Given the description of an element on the screen output the (x, y) to click on. 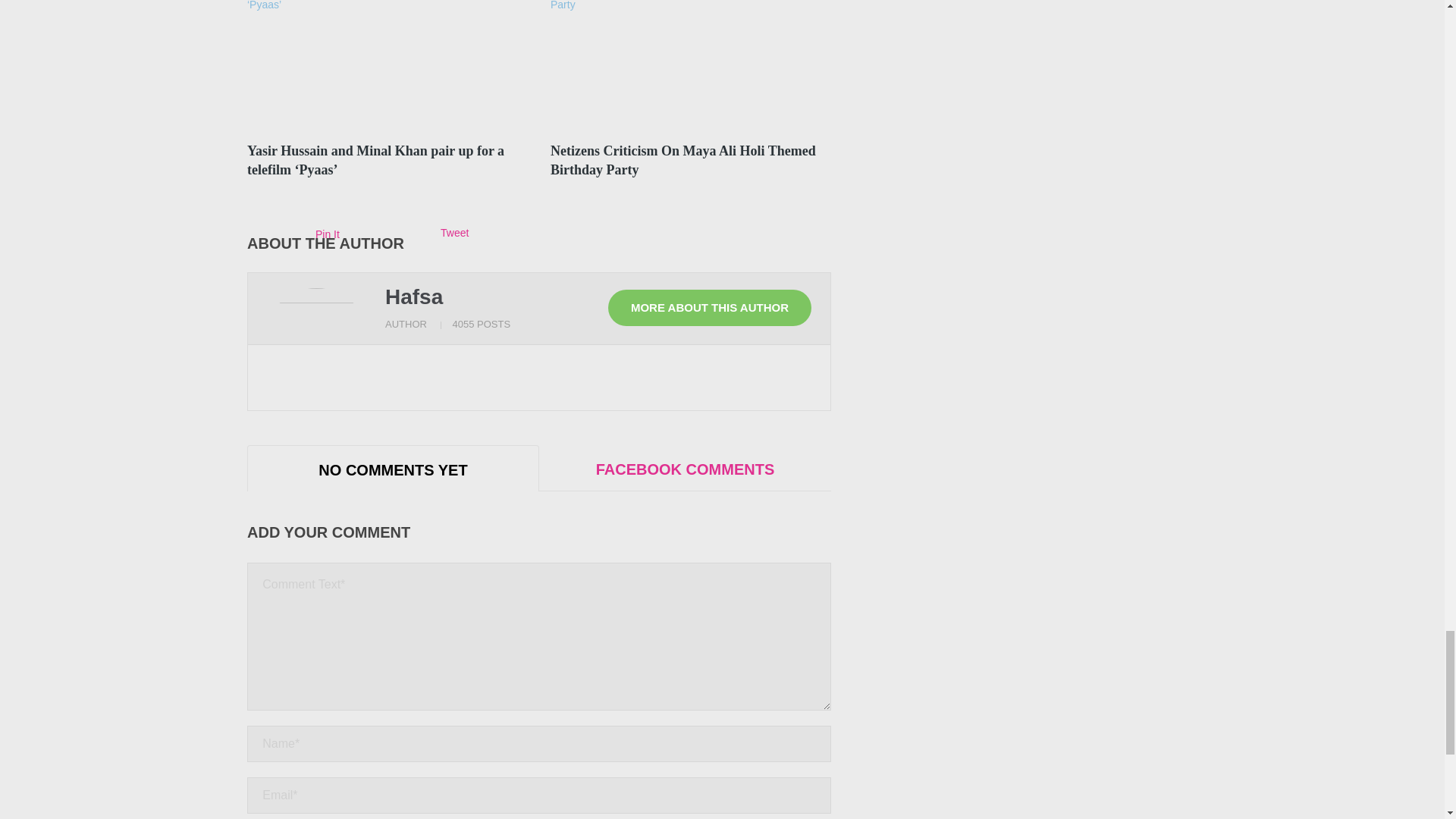
Netizens Criticism On Maya Ali Holi Themed Birthday Party (690, 67)
Netizens Criticism On Maya Ali Holi Themed Birthday Party (682, 160)
